Given the description of an element on the screen output the (x, y) to click on. 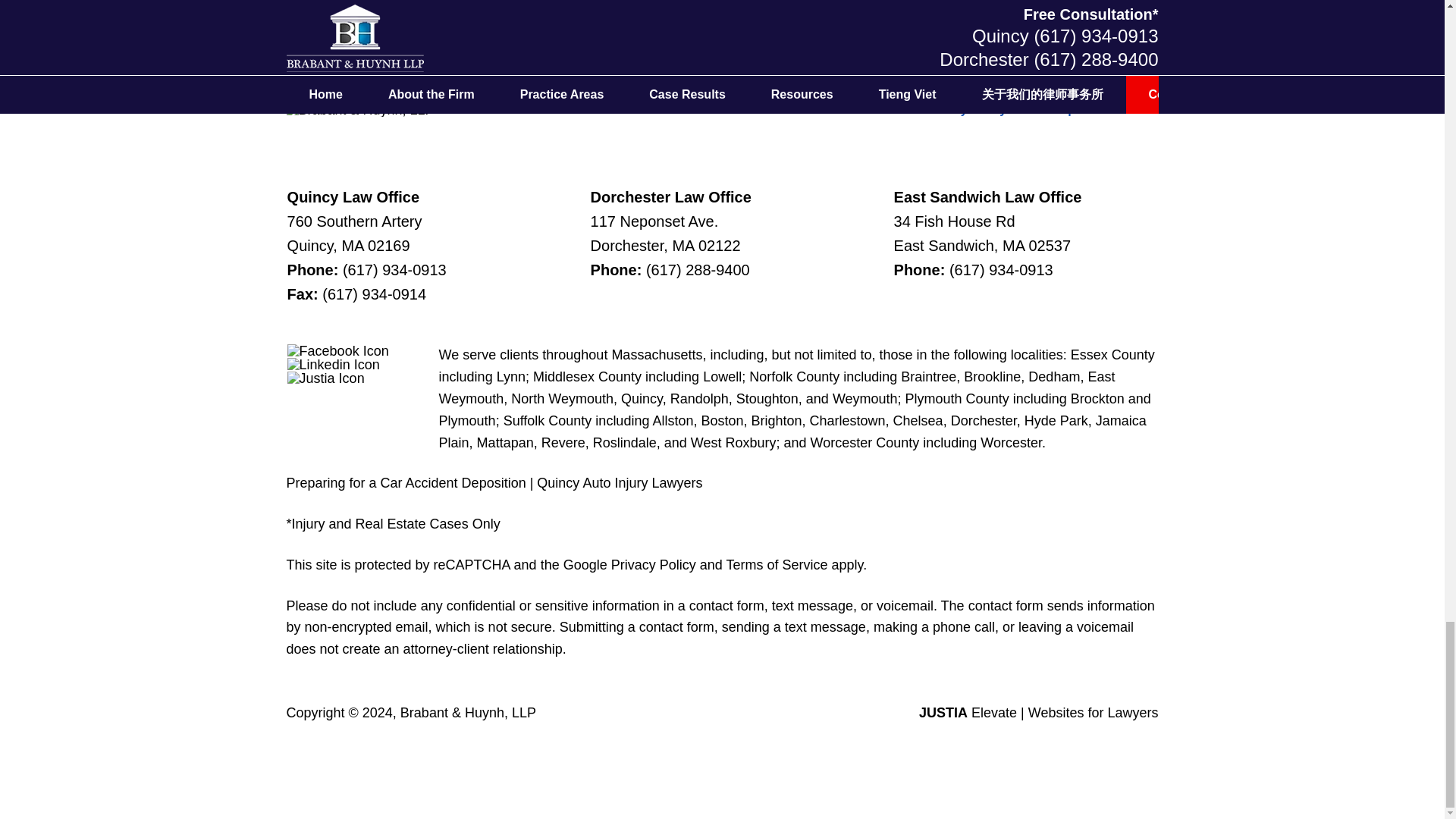
Facebook (337, 350)
Linkedin (333, 364)
Justia (325, 377)
